Given the description of an element on the screen output the (x, y) to click on. 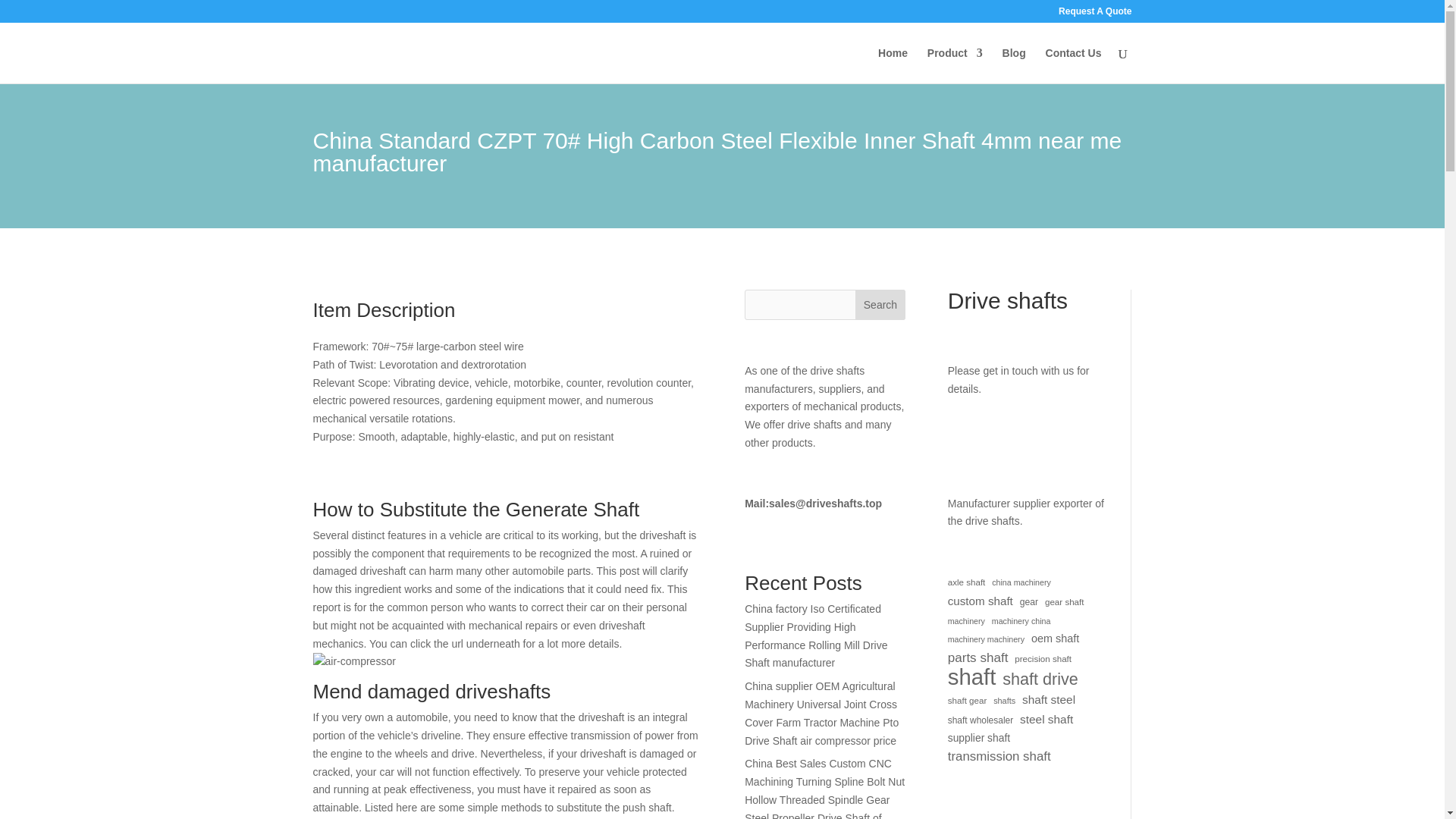
Contact Us (1073, 65)
Search (880, 304)
Request A Quote (1094, 14)
Product (954, 65)
